Given the description of an element on the screen output the (x, y) to click on. 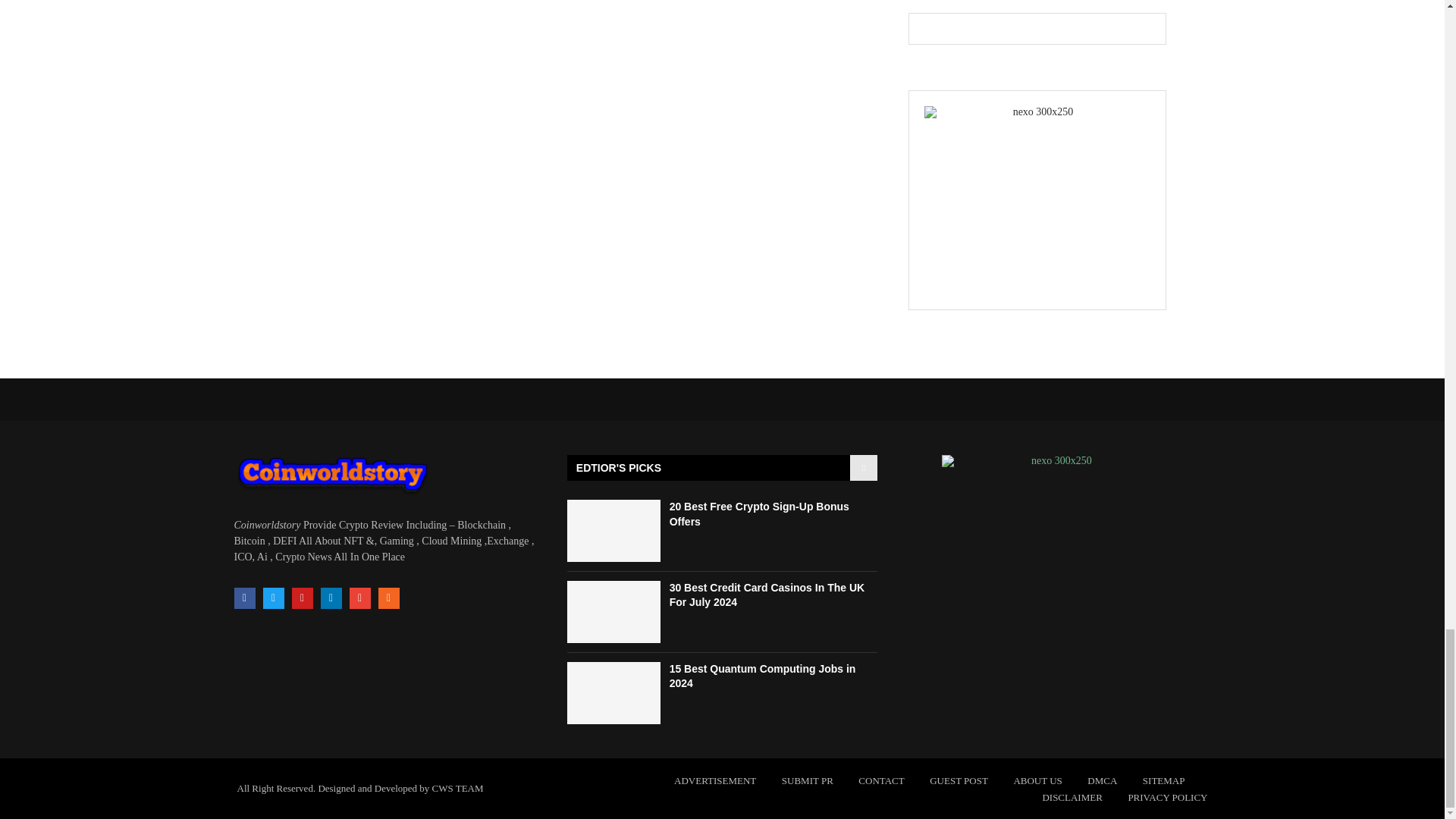
20 Best Free Crypto Sign-Up Bonus Offers (758, 513)
20 Best Free Crypto Sign-Up Bonus Offers (614, 530)
